Given the description of an element on the screen output the (x, y) to click on. 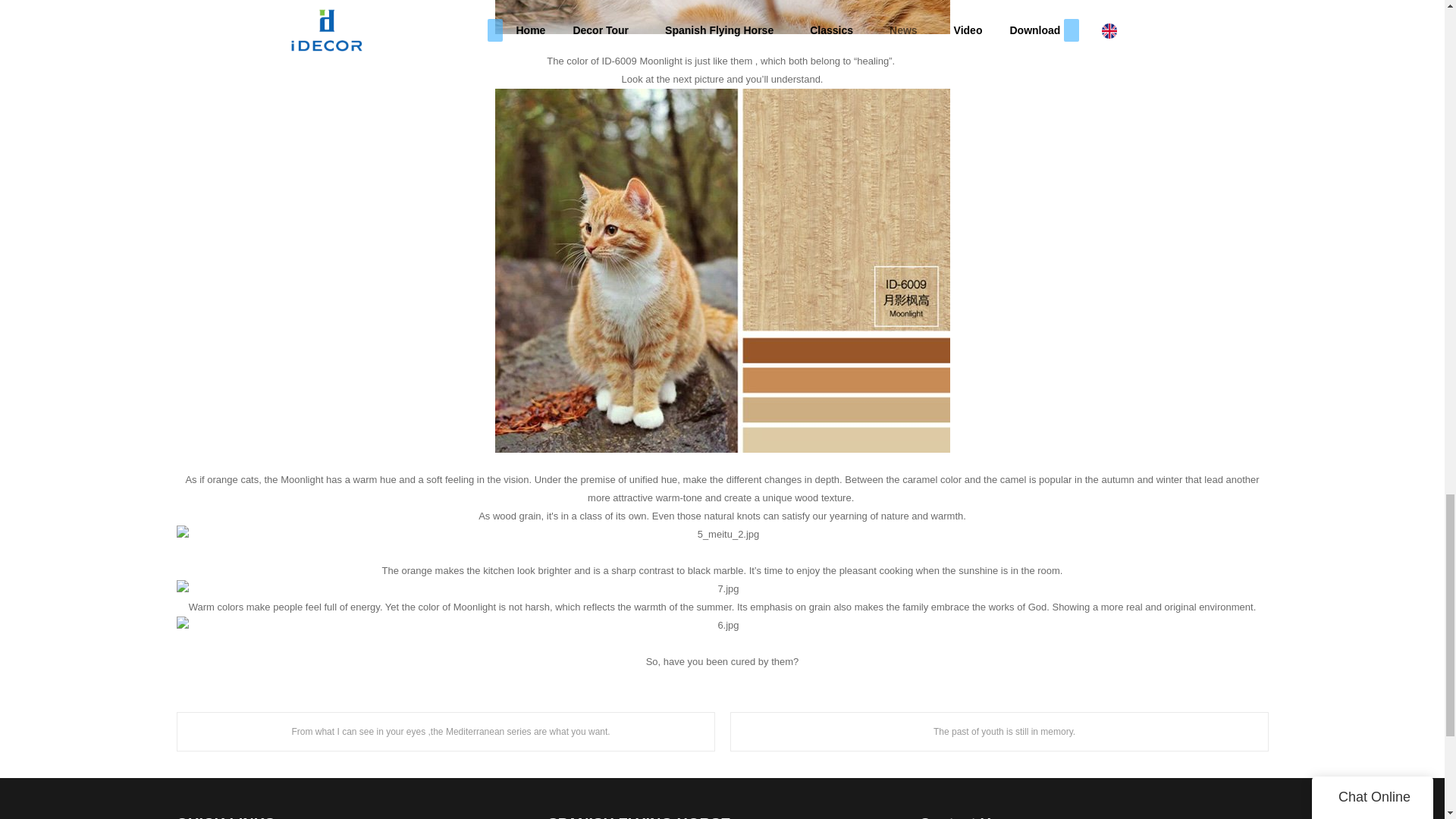
The past of youth is still in memory. (998, 731)
The past of youth is still in memory. (998, 731)
